Given the description of an element on the screen output the (x, y) to click on. 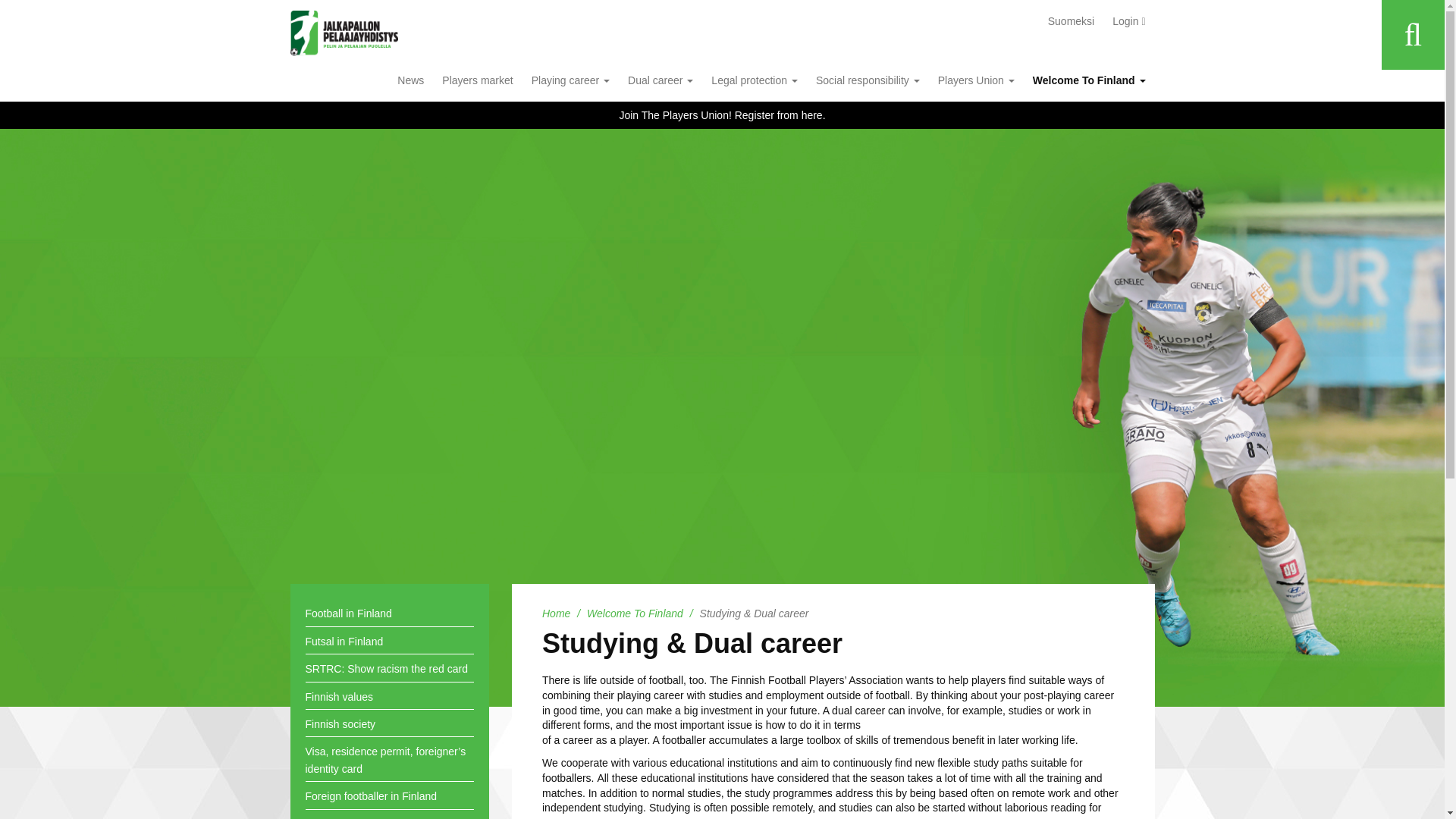
Players market (476, 80)
News (410, 80)
Dual career (659, 80)
Suomeksi (1071, 21)
Login (1128, 21)
Playing career (570, 80)
